Given the description of an element on the screen output the (x, y) to click on. 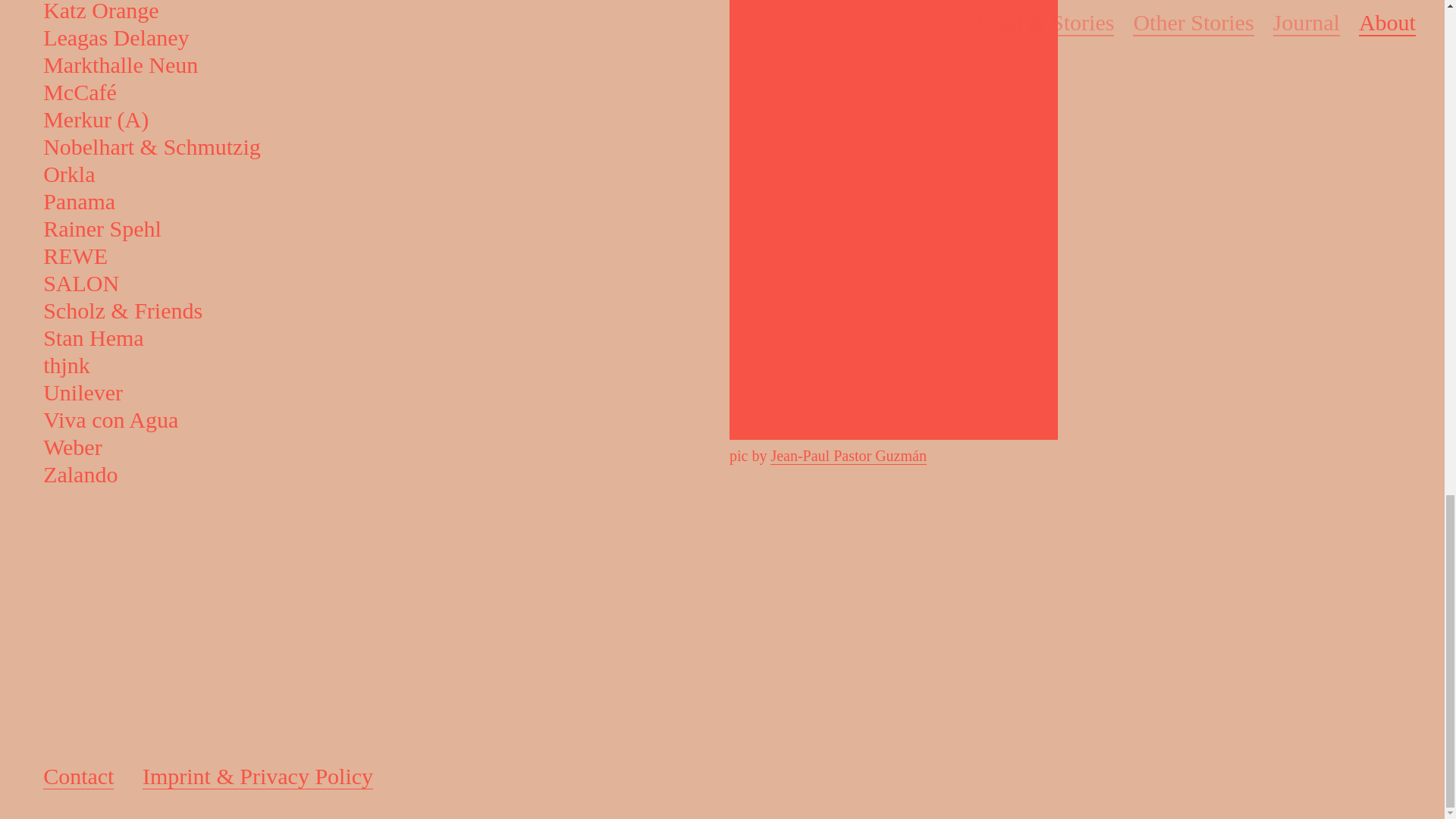
Contact (78, 776)
